Given the description of an element on the screen output the (x, y) to click on. 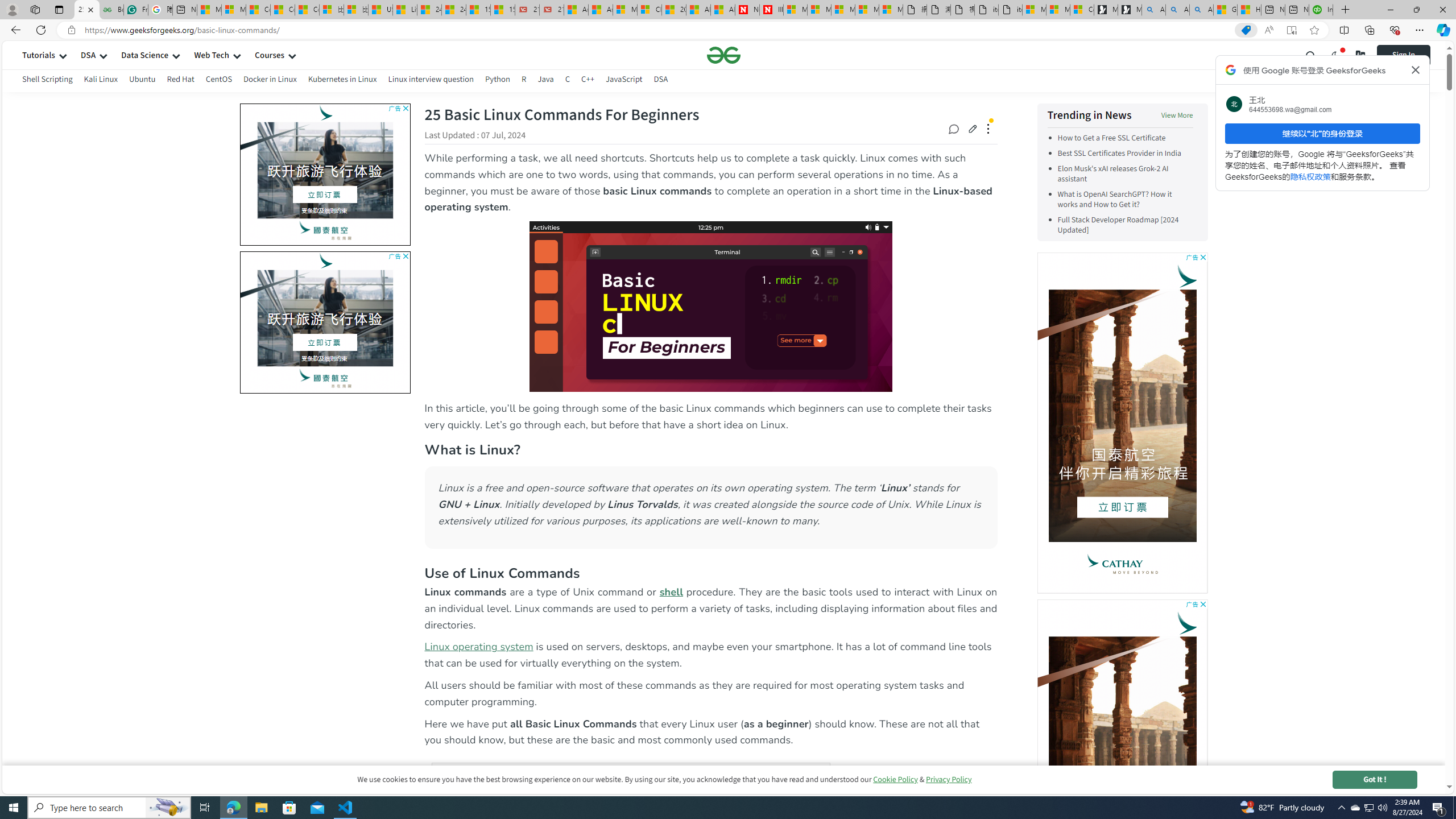
CentOS (218, 79)
AutomationID: bg2 (156, 319)
21 Movies That Outdid the Books They Were Based On (551, 9)
C++ (587, 79)
Docker in Linux (269, 79)
DSA (660, 79)
Sign In (1403, 55)
AutomationID: brandLogo (325, 322)
Best SSL Certificates Provider in India (1125, 153)
Shell Scripting (47, 80)
Linux operating system (477, 646)
